Given the description of an element on the screen output the (x, y) to click on. 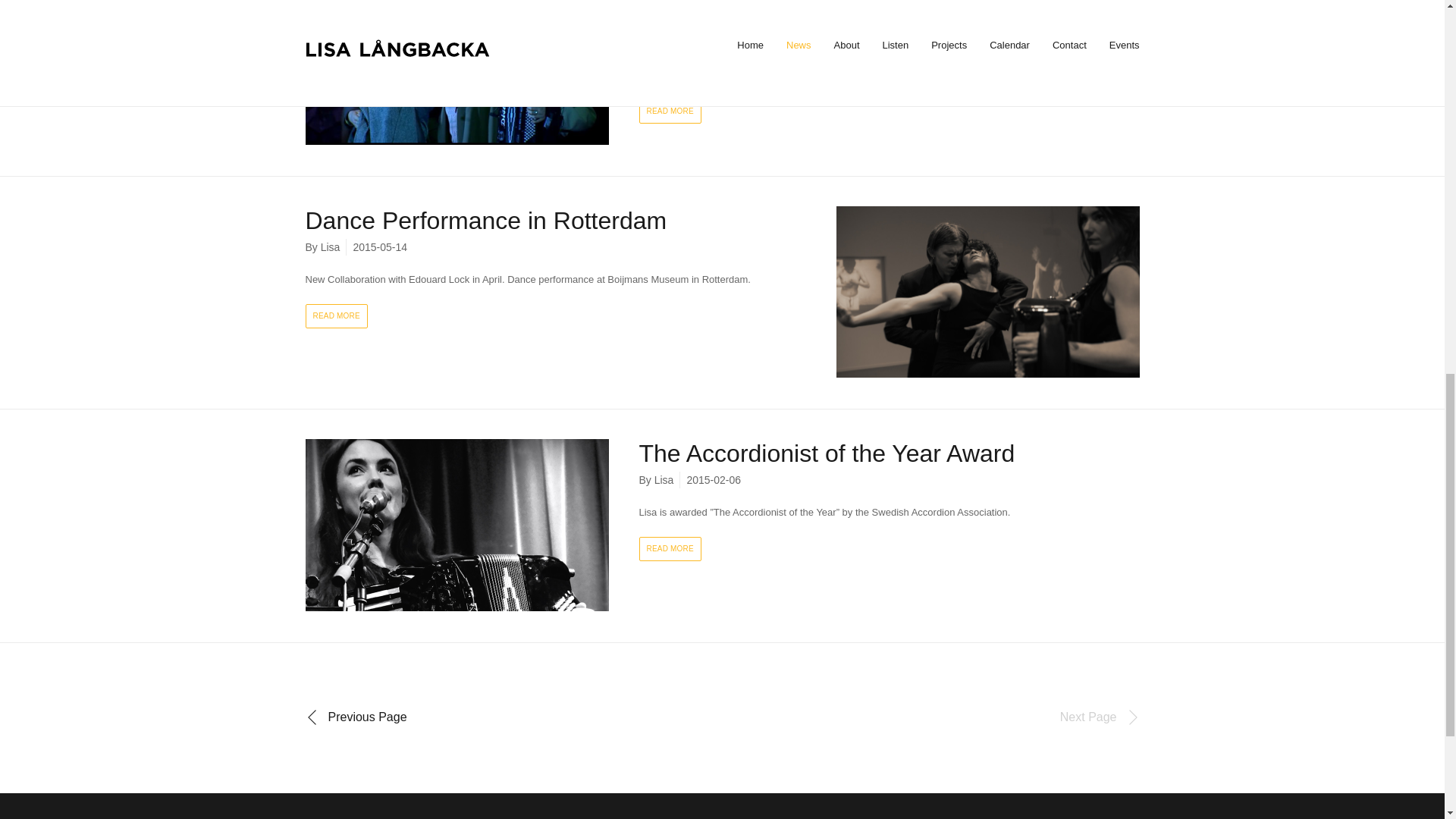
Next Page (1099, 716)
READ MORE (669, 549)
READ MORE (335, 315)
Previous Page (355, 716)
READ MORE (669, 111)
Next Page (1099, 716)
Previous Page (355, 716)
Willkommen, bienvenue to Cabaret in Copenhagen (840, 14)
The Accordionist of the Year Award (826, 452)
Dance Performance in Rotterdam (485, 220)
